Given the description of an element on the screen output the (x, y) to click on. 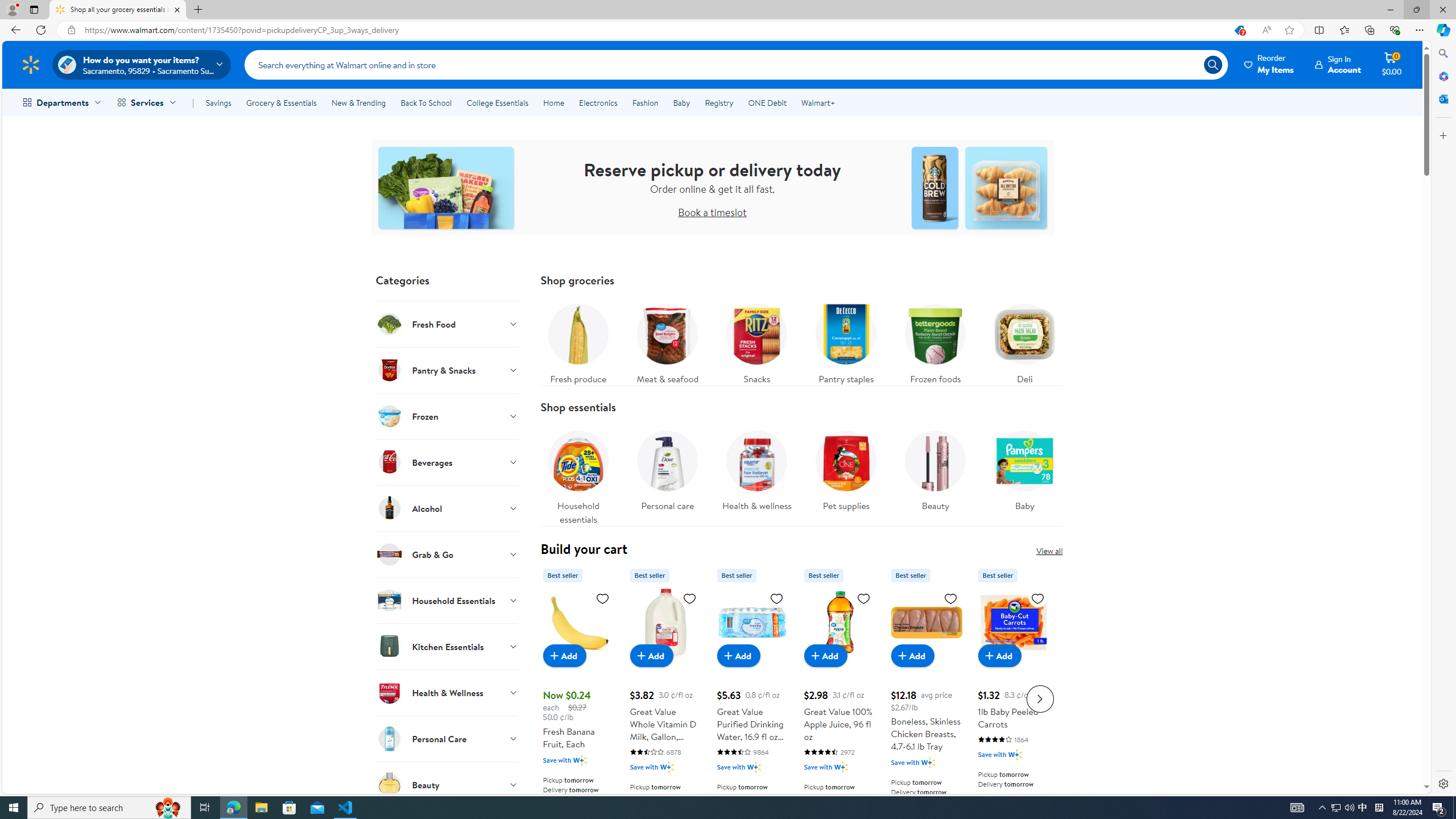
Health & wellness (756, 473)
This site has coupons! Shopping in Microsoft Edge, 7 (1239, 29)
View all (1049, 550)
Beauty (935, 467)
Pantry staples (845, 340)
Snacks (756, 340)
Electronics (598, 102)
